Given the description of an element on the screen output the (x, y) to click on. 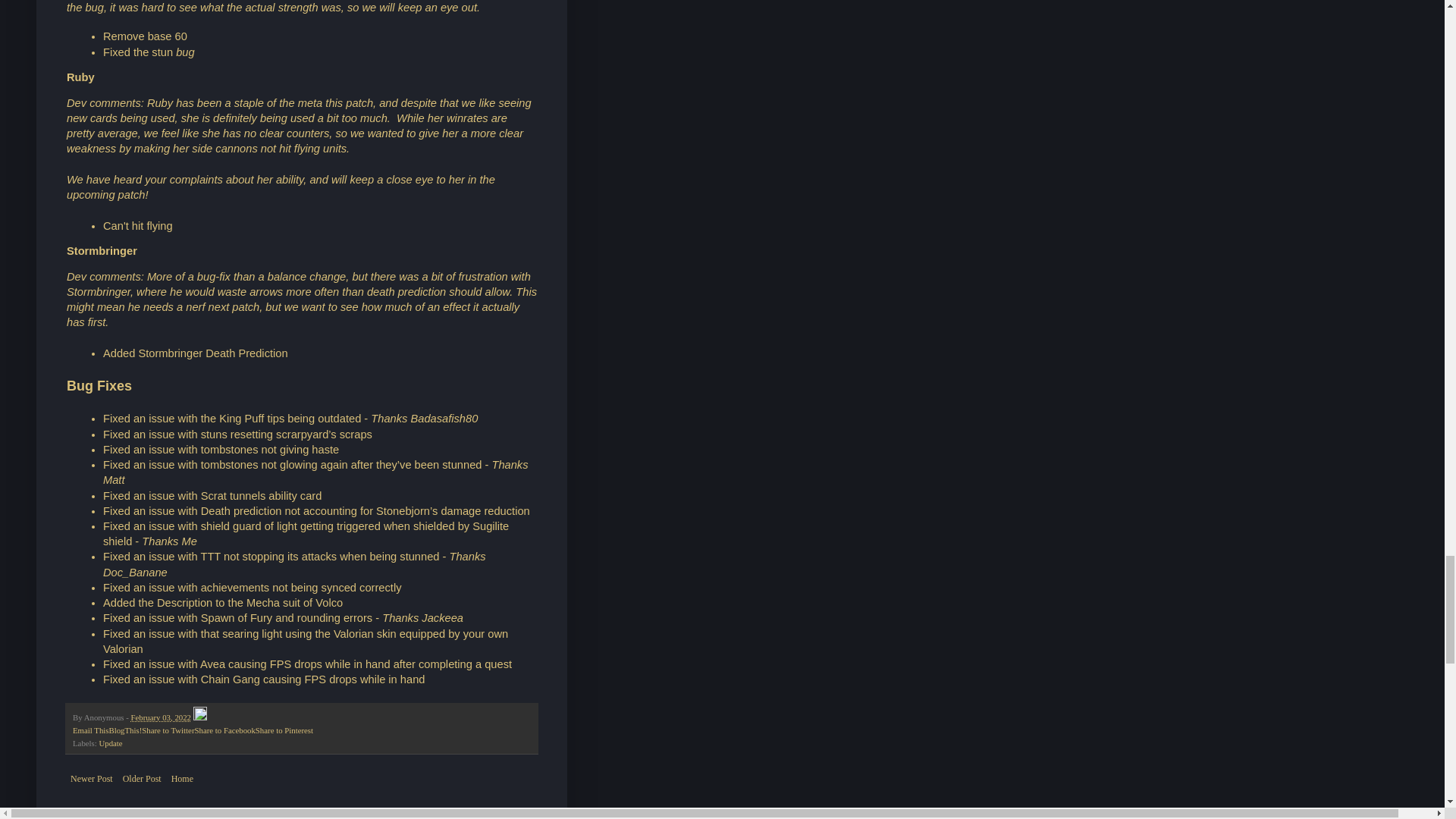
Home (181, 778)
Email This (89, 729)
Share to Pinterest (284, 729)
permanent link (160, 716)
Email This (89, 729)
Older Post (142, 778)
Newer Post (91, 778)
February 03, 2022 (160, 716)
Share to Twitter (167, 729)
Edit Post (199, 716)
Update (110, 742)
BlogThis! (124, 729)
Share to Twitter (167, 729)
Older Post (142, 778)
Share to Facebook (223, 729)
